Given the description of an element on the screen output the (x, y) to click on. 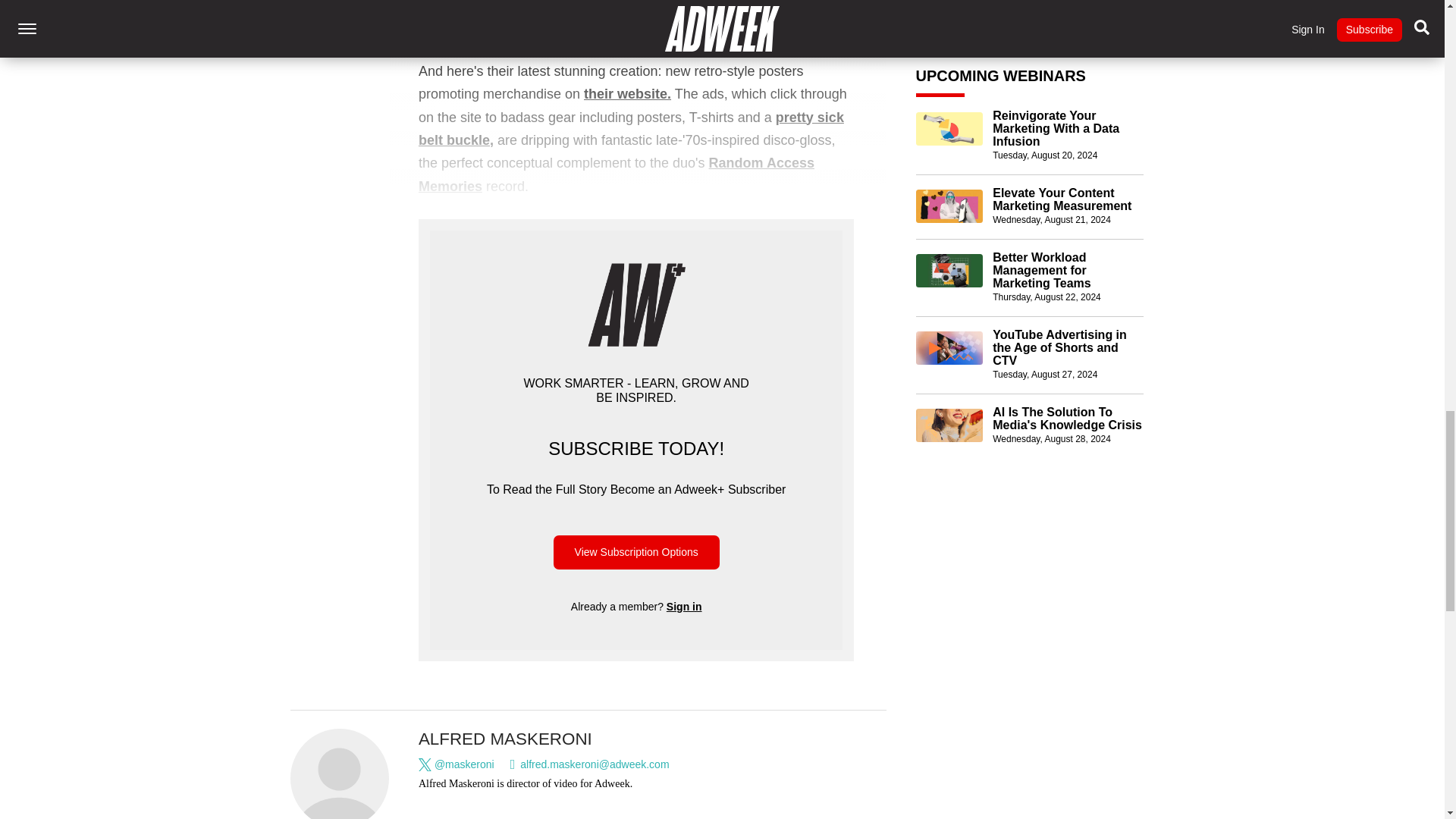
Acxiom-Webinar-082024-Header (948, 64)
PixabilityWebinar082724Header (948, 285)
Qatalog-Webinar-082824-Header (948, 362)
Even stuff they don't make is awesome. (633, 18)
their website. (627, 93)
pretty sick belt buckle, (631, 127)
Random Access Memories (616, 174)
Adobe-Webinar-082224-Header (948, 207)
Nativo-Webinar-082124-Header (948, 142)
